Given the description of an element on the screen output the (x, y) to click on. 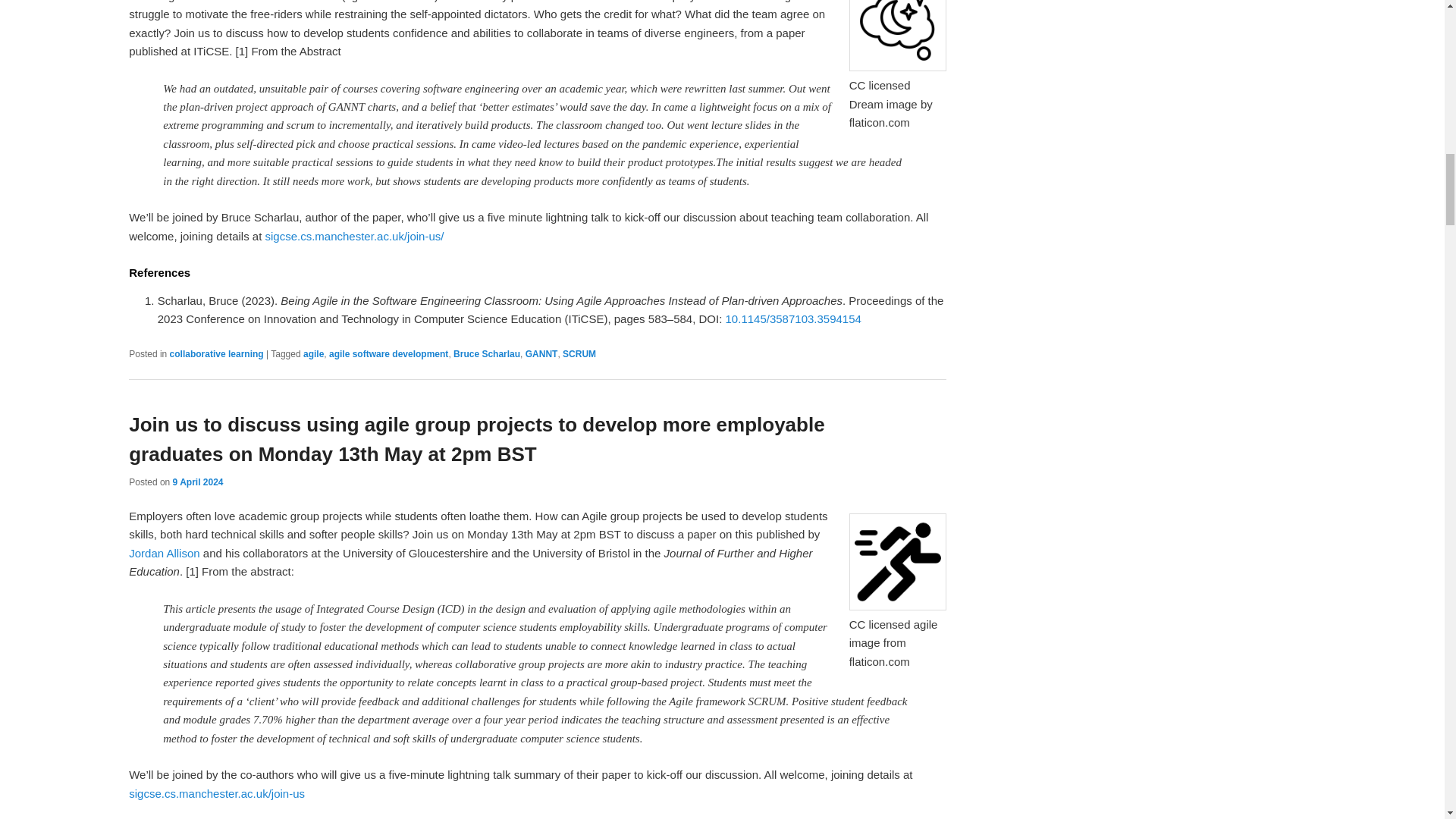
Bruce Scharlau (485, 353)
agile software development (388, 353)
collaborative learning (216, 353)
agile (312, 353)
11:46 am (198, 481)
